Given the description of an element on the screen output the (x, y) to click on. 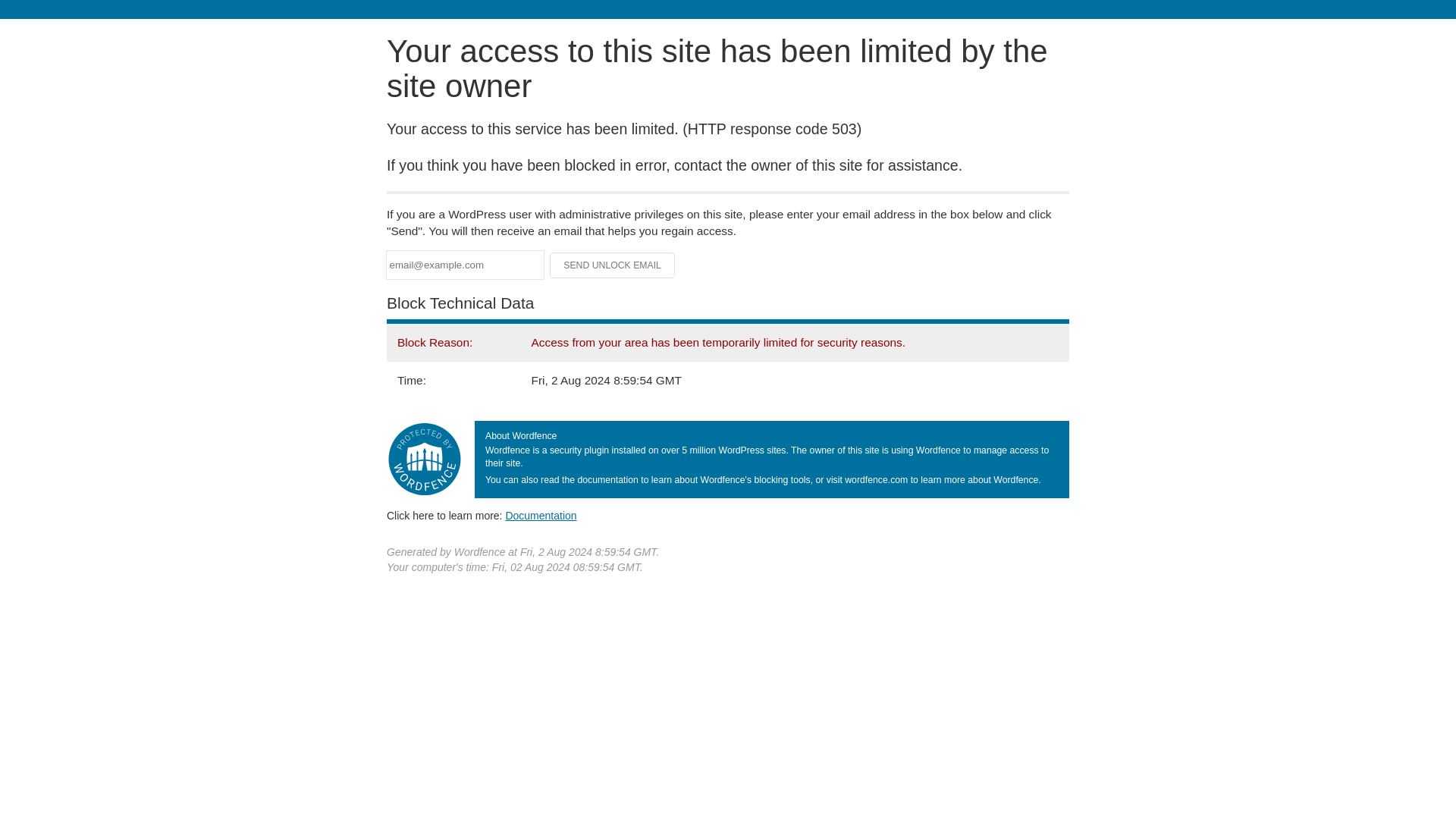
Send Unlock Email (612, 265)
Send Unlock Email (612, 265)
Documentation (540, 515)
